Given the description of an element on the screen output the (x, y) to click on. 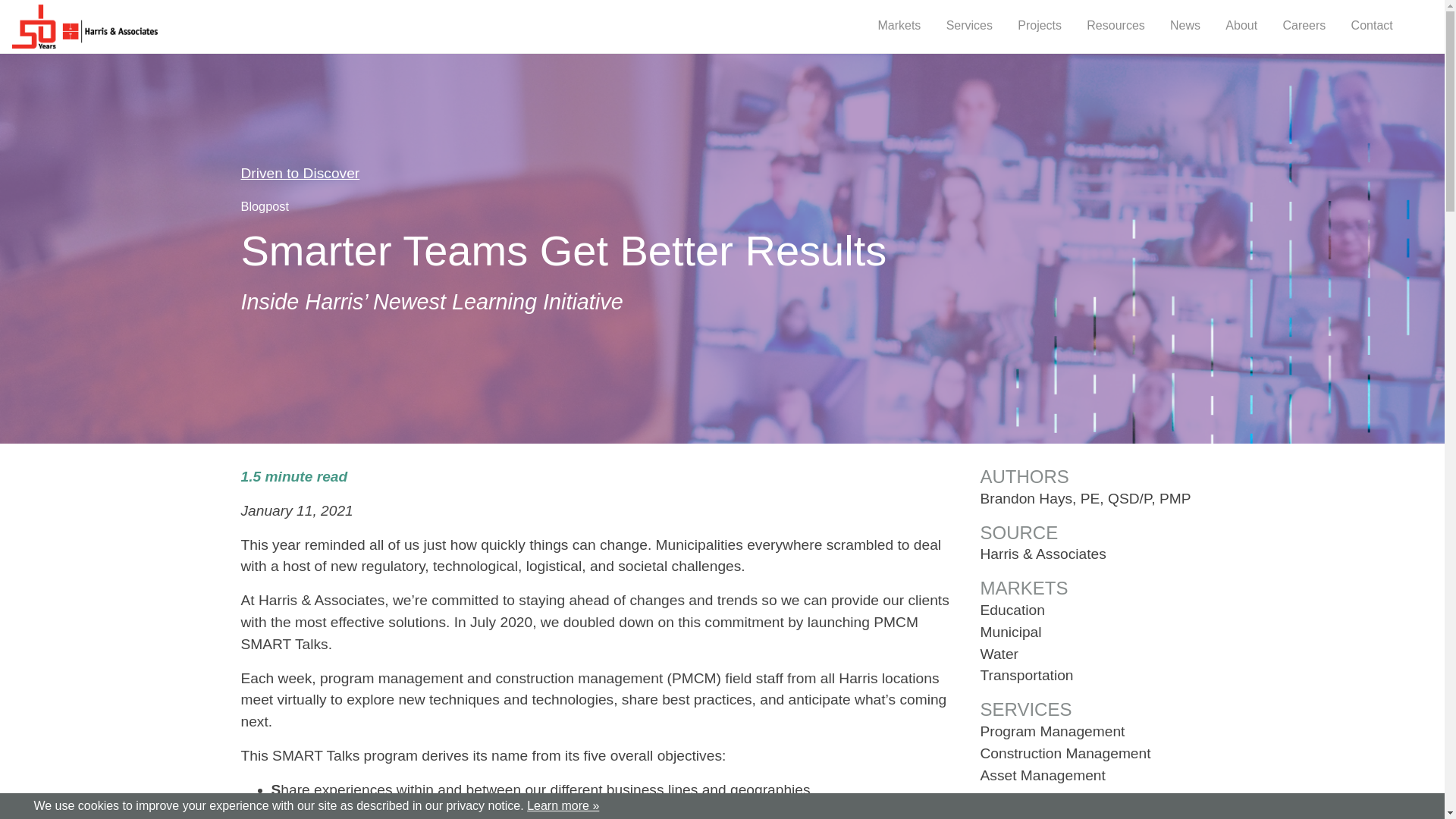
Markets (898, 26)
Resources (1115, 26)
Services (969, 26)
Projects (1039, 26)
